Given the description of an element on the screen output the (x, y) to click on. 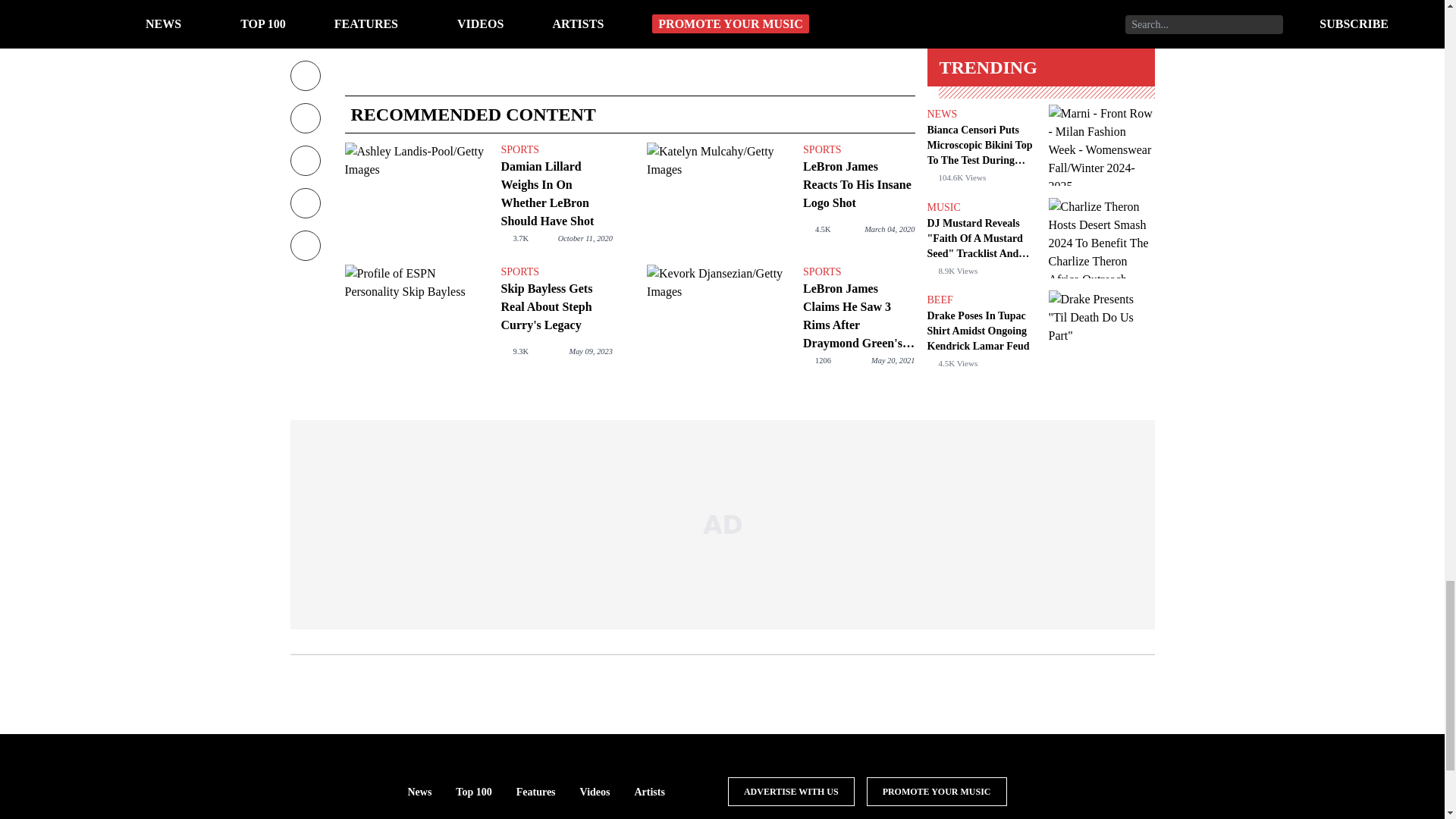
SPORTS (555, 150)
Damian Lillard Weighs In On Whether LeBron Should Have Shot (555, 194)
Alex Zidel (391, 5)
March 04, 2020 (889, 229)
SPORTS (555, 272)
LeBron James Reacts To His Insane Logo Shot (858, 185)
SPORTS (858, 272)
Skip Bayless Gets Real About Steph Curry's Legacy (415, 317)
Skip Bayless Gets Real About Steph Curry's Legacy (555, 307)
May 20, 2021 (892, 360)
May 09, 2023 (590, 351)
SPORTS (858, 150)
Damian Lillard Weighs In On Whether LeBron Should Have Shot (415, 195)
